Given the description of an element on the screen output the (x, y) to click on. 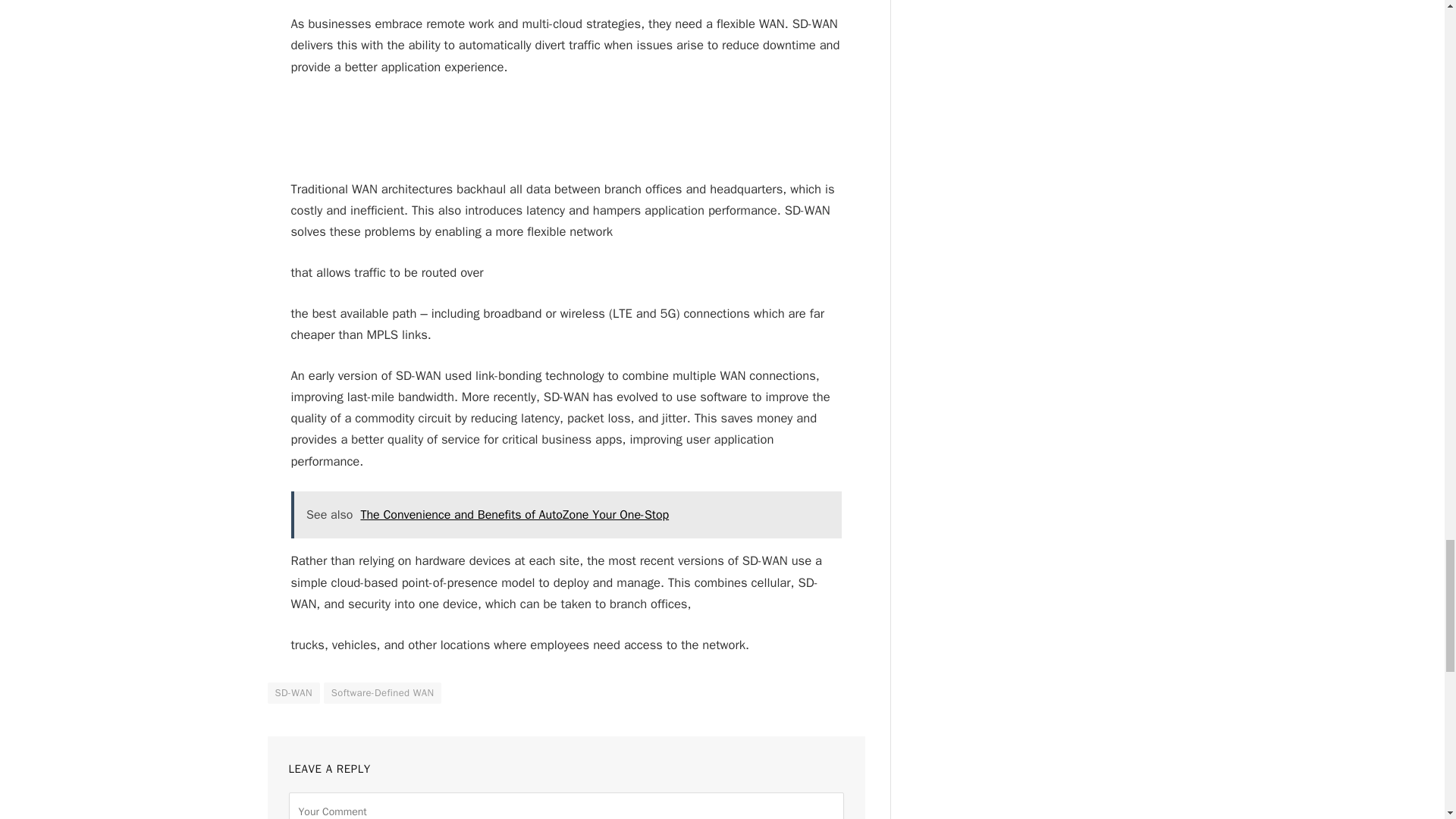
SD-WAN (292, 692)
Software-Defined WAN (382, 692)
